Given the description of an element on the screen output the (x, y) to click on. 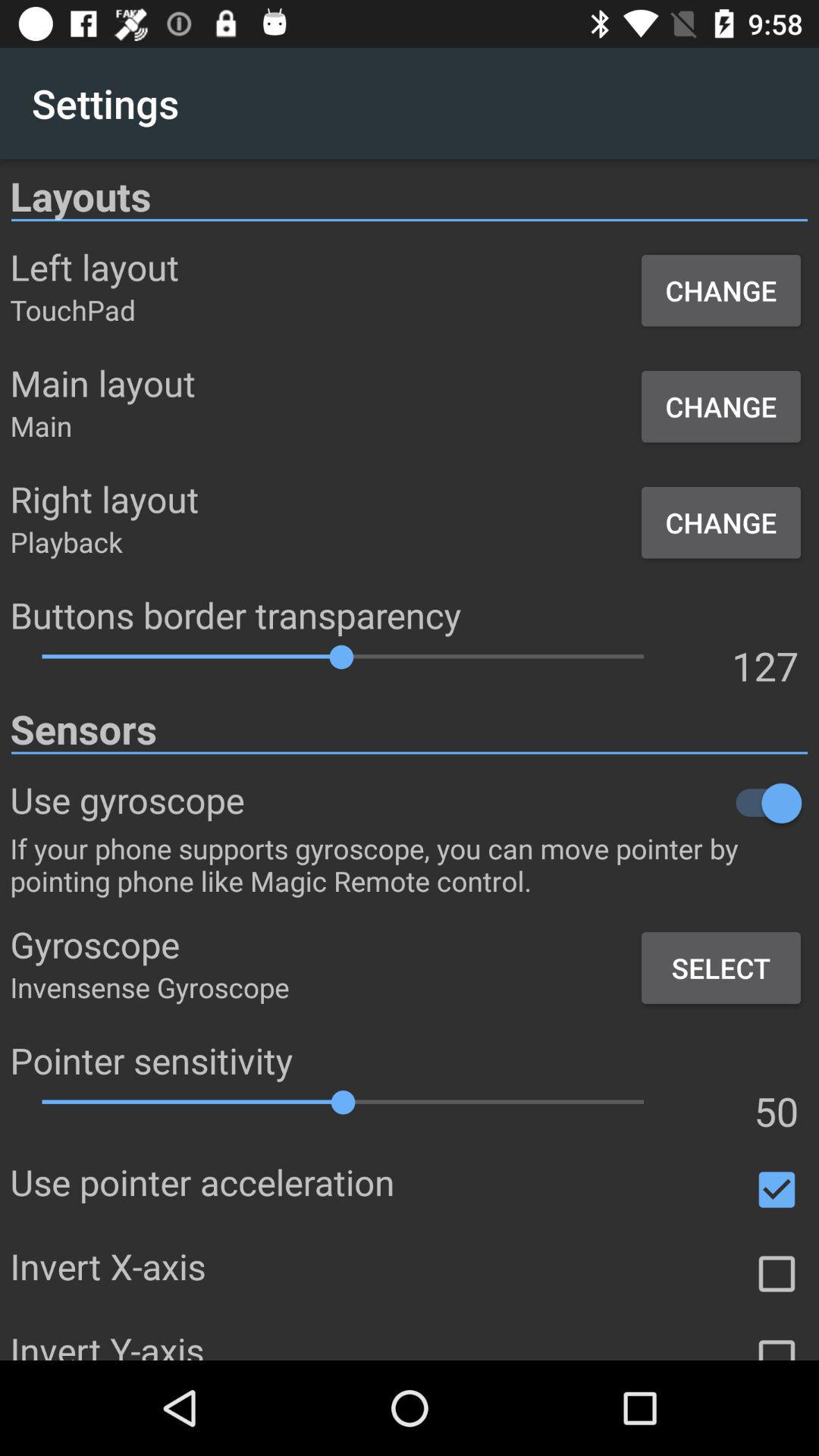
turn off the item next to use gyroscope (526, 802)
